Given the description of an element on the screen output the (x, y) to click on. 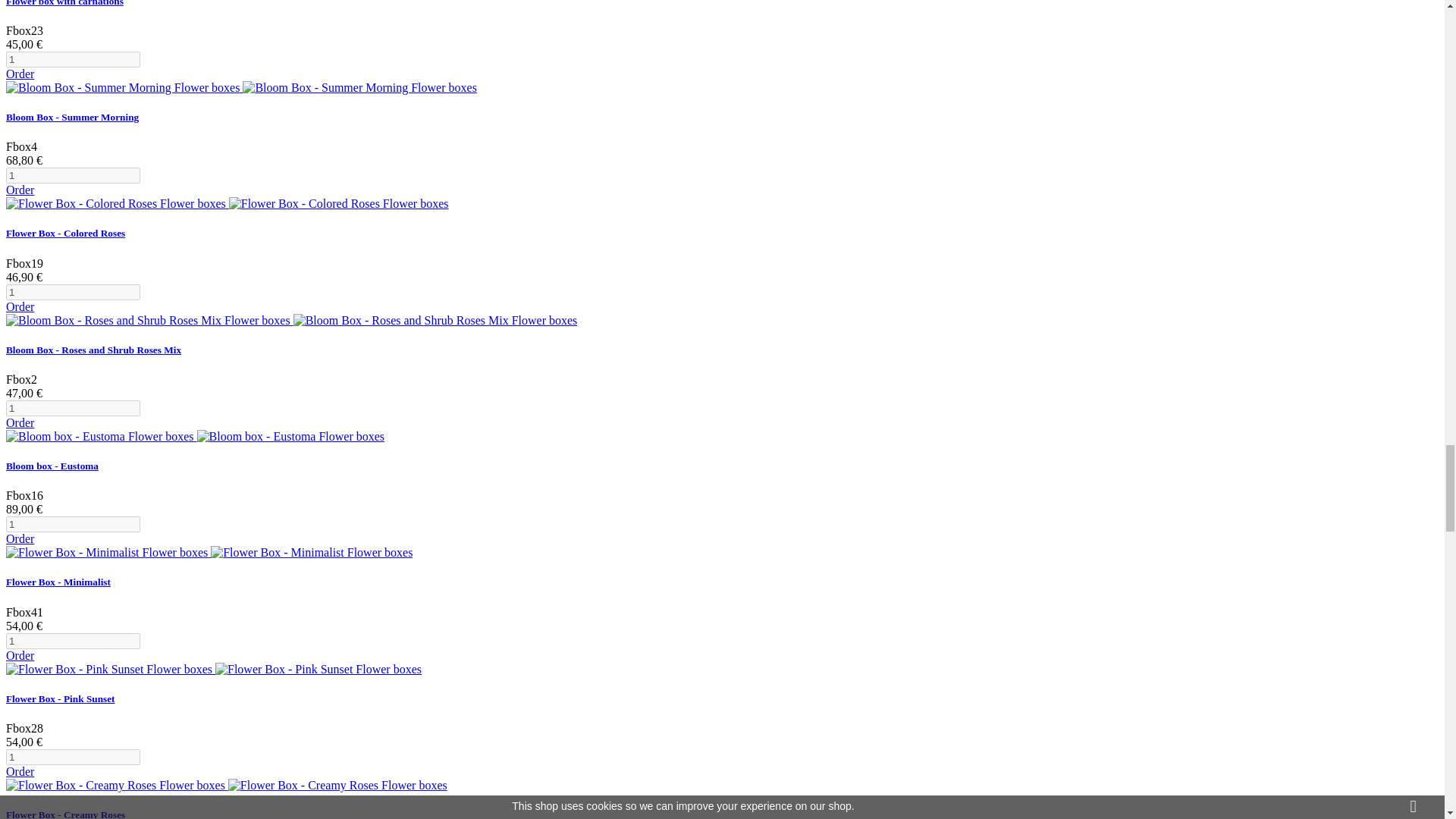
1 (72, 524)
1 (72, 408)
1 (72, 641)
1 (72, 175)
1 (72, 292)
1 (72, 59)
